Given the description of an element on the screen output the (x, y) to click on. 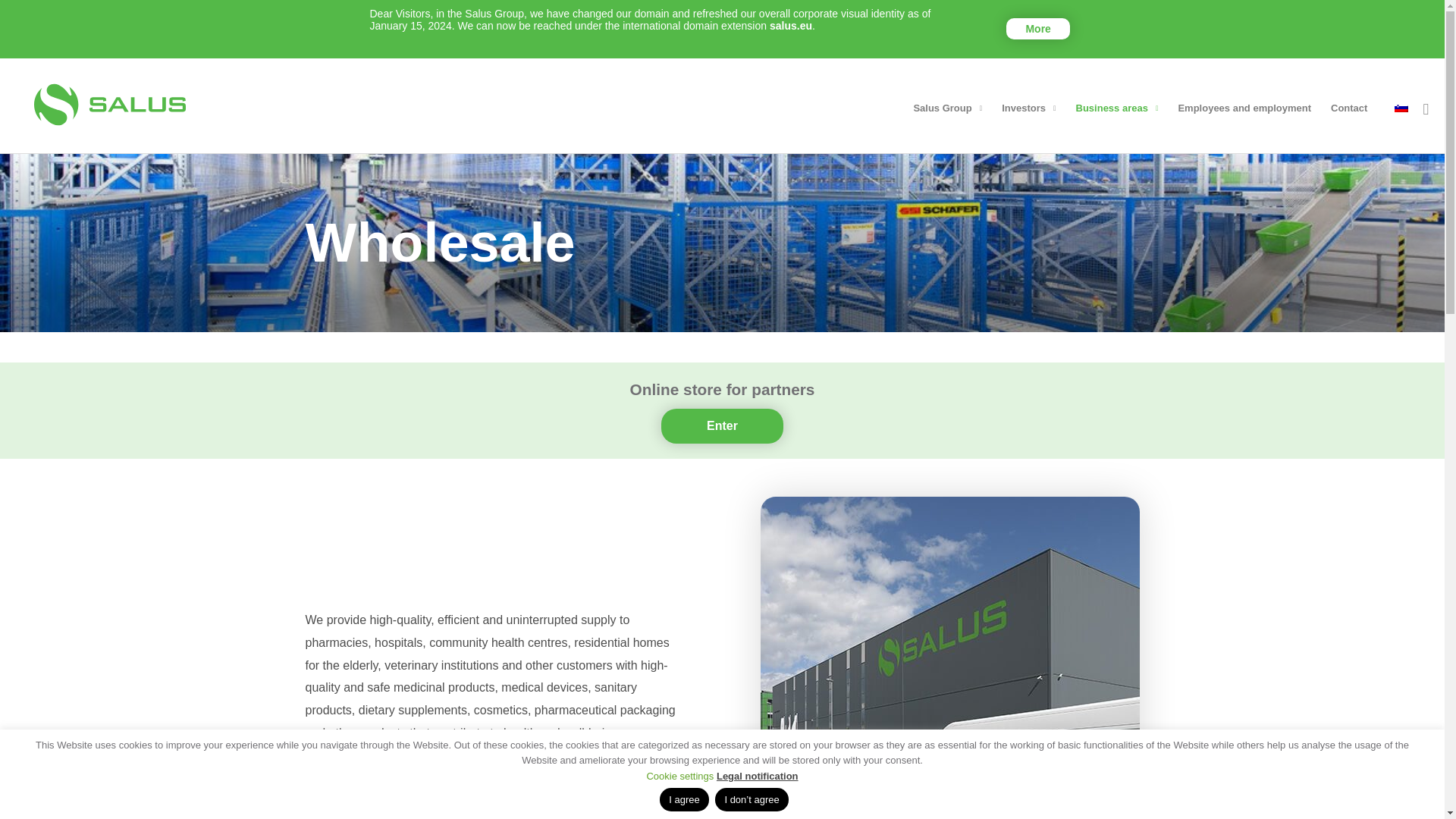
Contact (1348, 103)
Business areas (1117, 103)
Investors (1028, 103)
veleprodaja-1 (949, 657)
Employees and employment (1243, 103)
Salus Group (946, 103)
Enter (722, 425)
More (1037, 28)
